Given the description of an element on the screen output the (x, y) to click on. 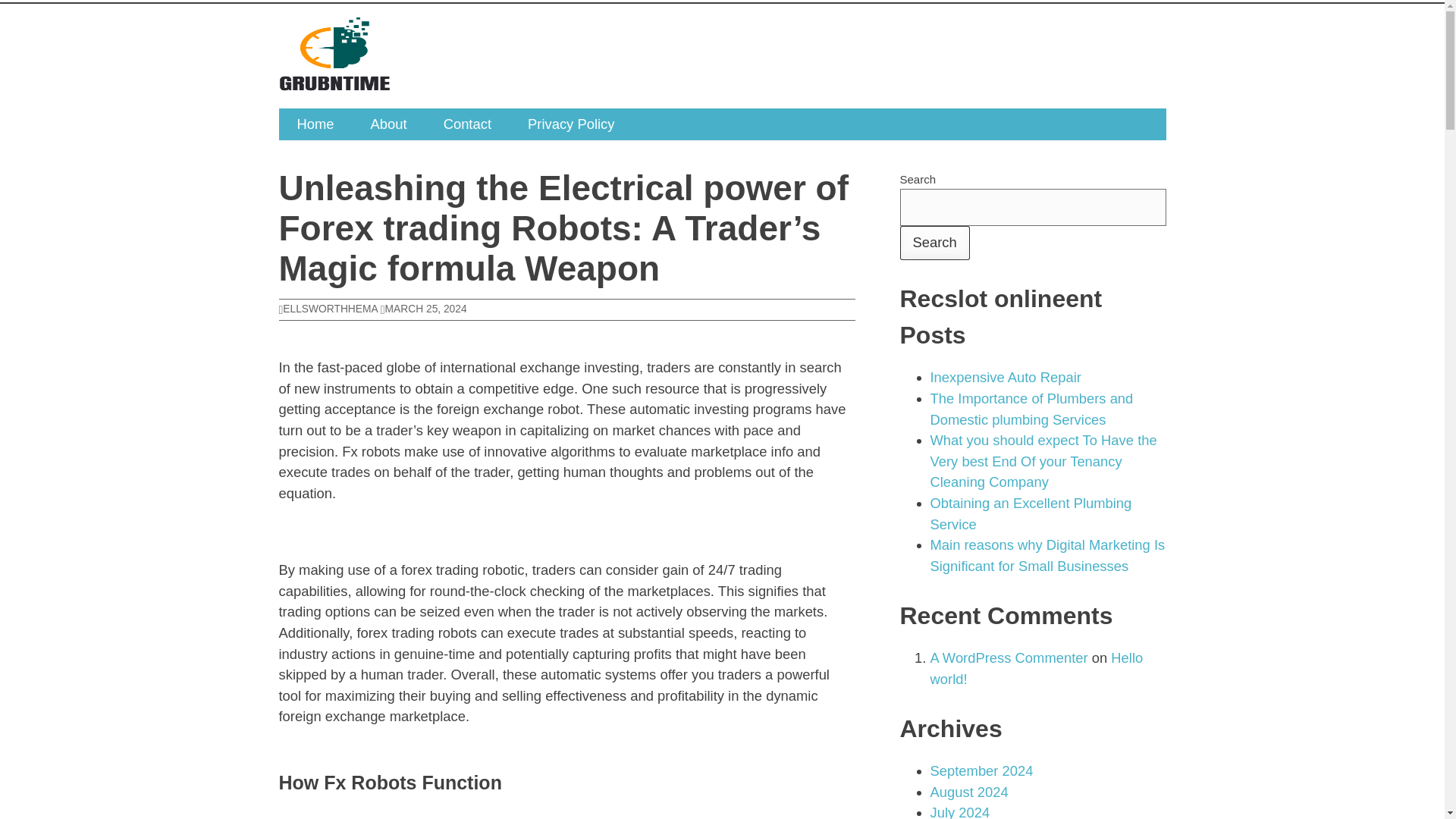
About (388, 124)
ELLSWORTHHEMA (328, 308)
Contact (467, 124)
A WordPress Commenter (1008, 657)
Search (934, 242)
Inexpensive Auto Repair (1005, 376)
MARCH 25, 2024 (423, 308)
